Given the description of an element on the screen output the (x, y) to click on. 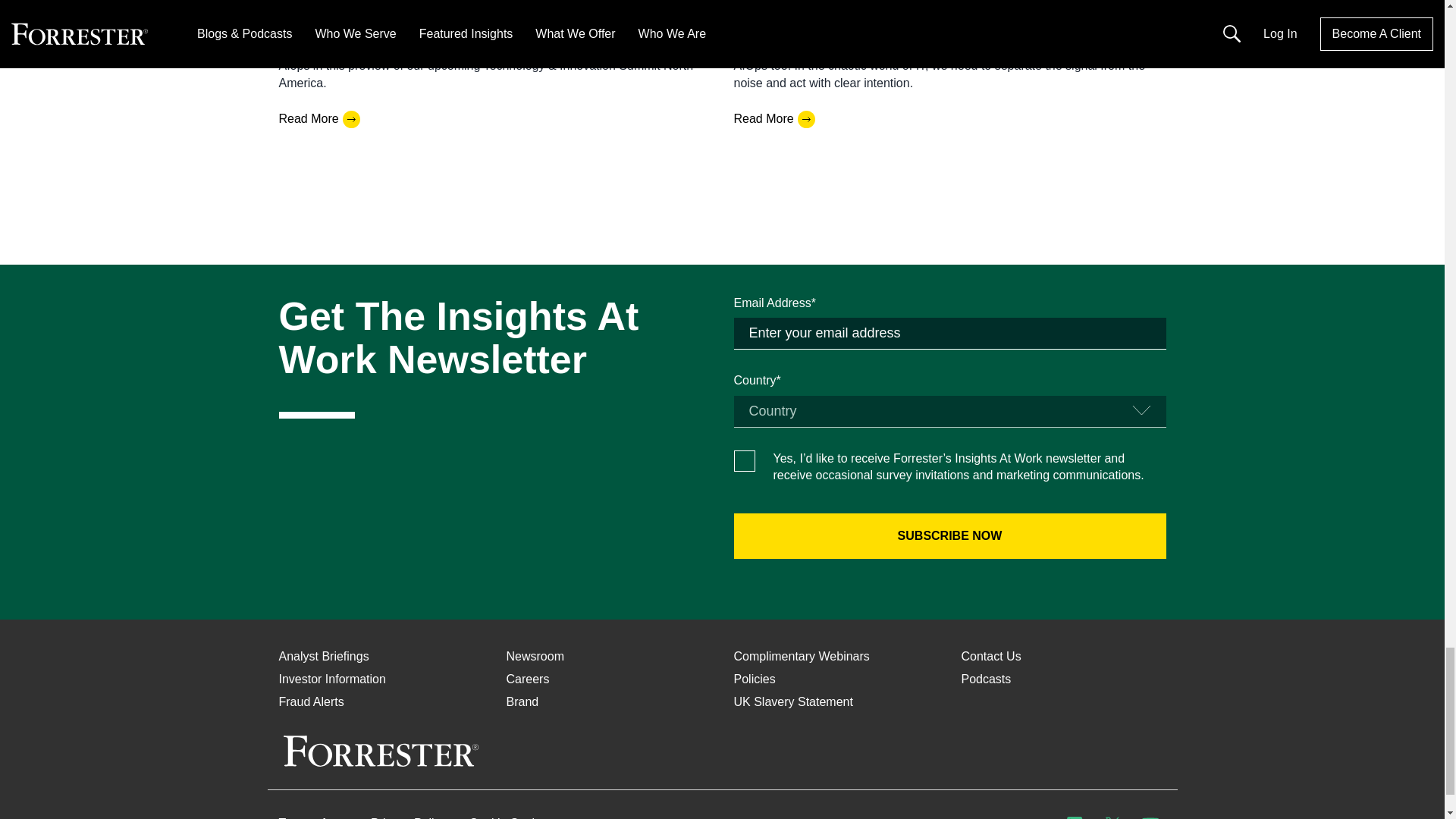
Subscribe Now (949, 535)
